Given the description of an element on the screen output the (x, y) to click on. 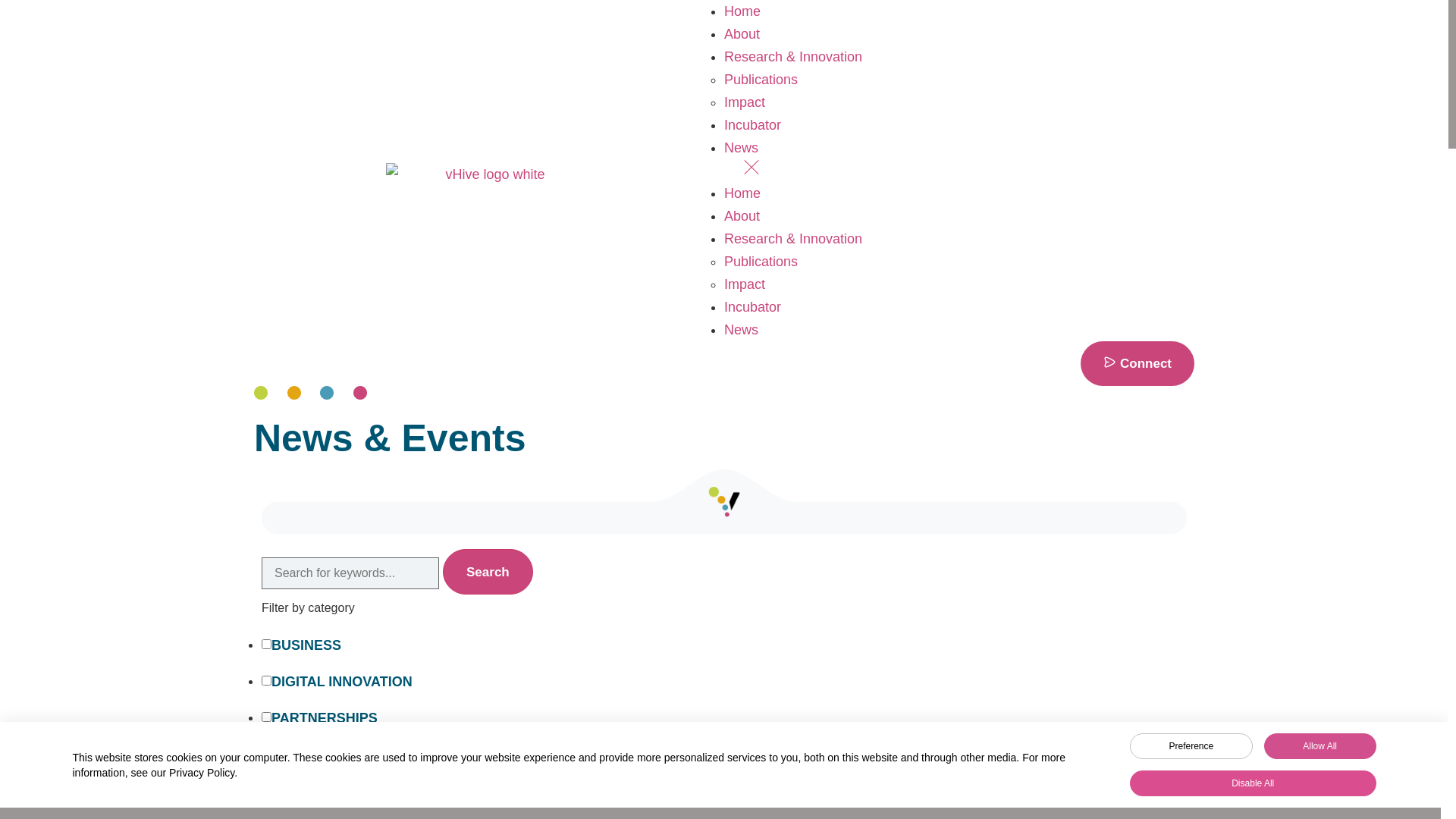
About Element type: text (741, 33)
Research & Innovation Element type: text (793, 56)
Preference Element type: text (1190, 746)
News Element type: text (741, 147)
Allow All Element type: text (1320, 746)
Connect Element type: text (1137, 363)
Publications Element type: text (760, 261)
Publications Element type: text (760, 79)
Incubator Element type: text (752, 124)
News Element type: text (741, 329)
About Element type: text (741, 215)
Disable All Element type: text (1252, 783)
Home Element type: text (742, 10)
Impact Element type: text (744, 283)
Home Element type: text (742, 192)
Impact Element type: text (744, 101)
Research & Innovation Element type: text (793, 238)
Incubator Element type: text (752, 306)
Search Element type: text (487, 571)
